Given the description of an element on the screen output the (x, y) to click on. 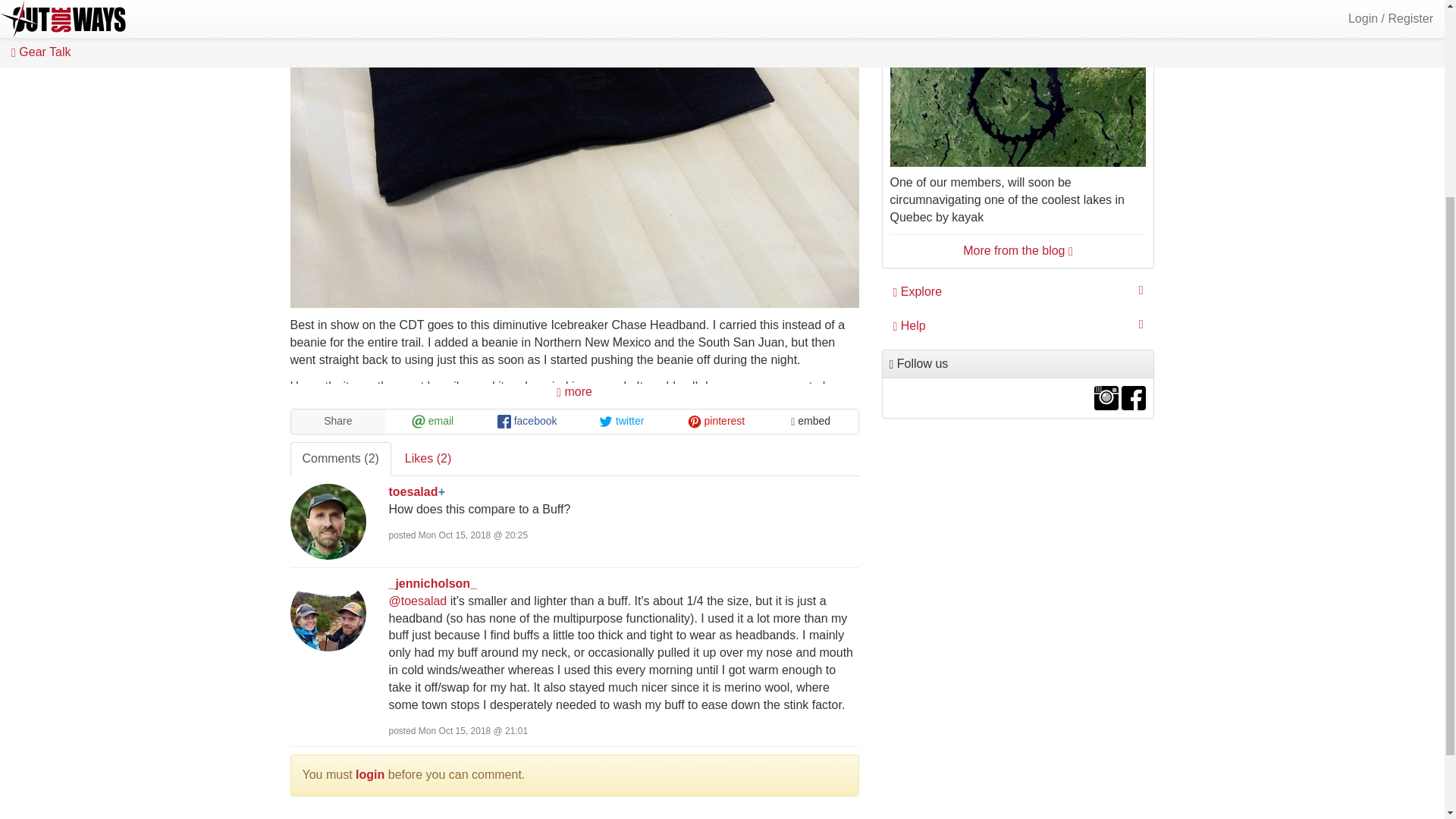
embed (810, 421)
twitter (620, 421)
more (574, 391)
More from the blog (1017, 250)
login (369, 774)
pinterest (715, 421)
facebook (527, 421)
Help (1017, 326)
toesalad (413, 491)
Explore (1017, 292)
